Given the description of an element on the screen output the (x, y) to click on. 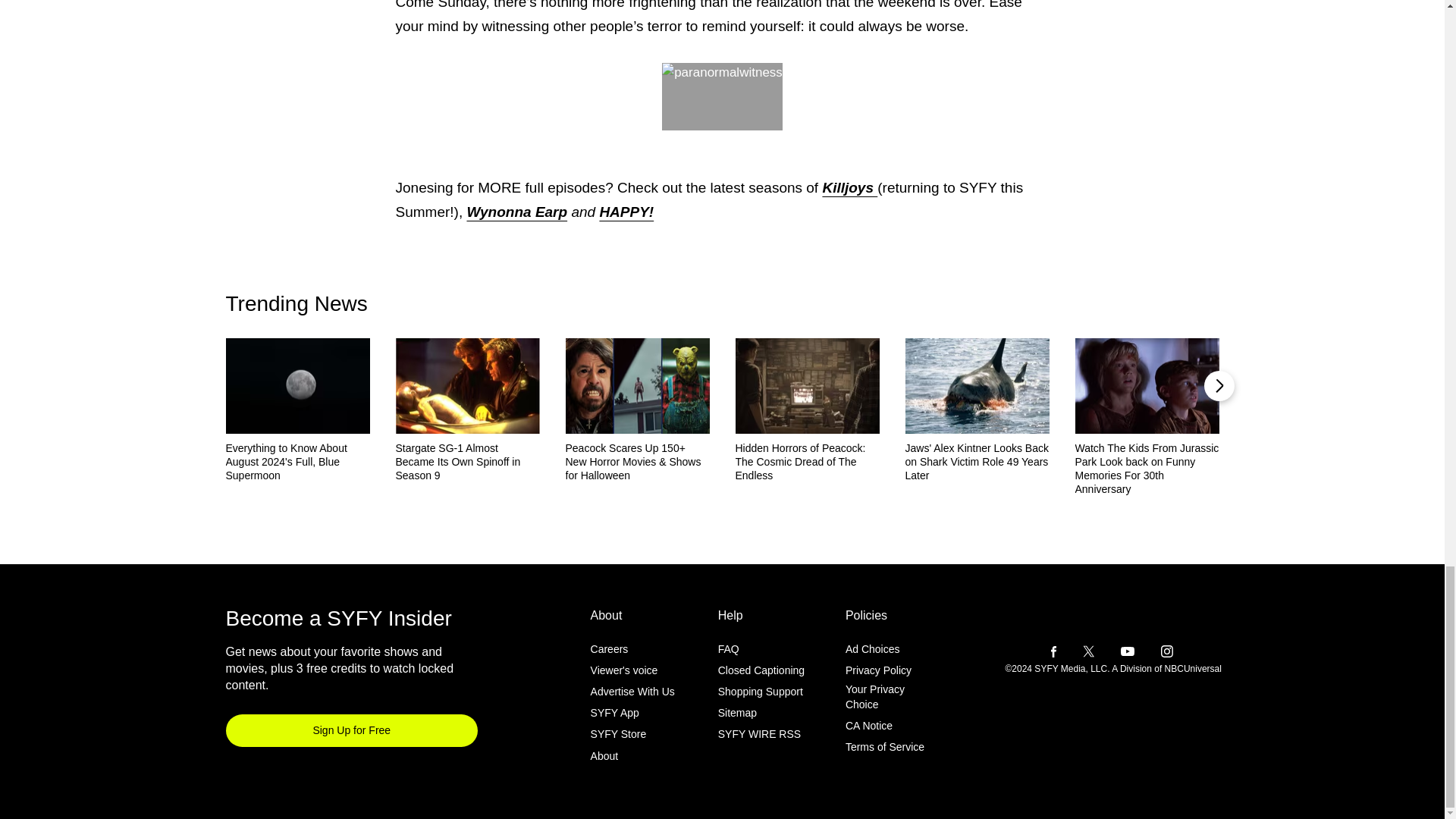
Hidden Horrors of Peacock: The Cosmic Dread of The Endless (807, 461)
Advertise With Us (633, 692)
Everything to Know About August 2024's Full, Blue Supermoon (297, 461)
Killjoys (849, 187)
Stargate SG-1 Almost Became Its Own Spinoff in Season 9 (468, 461)
Wynonna Earp (516, 211)
HAPPY! (625, 211)
